Given the description of an element on the screen output the (x, y) to click on. 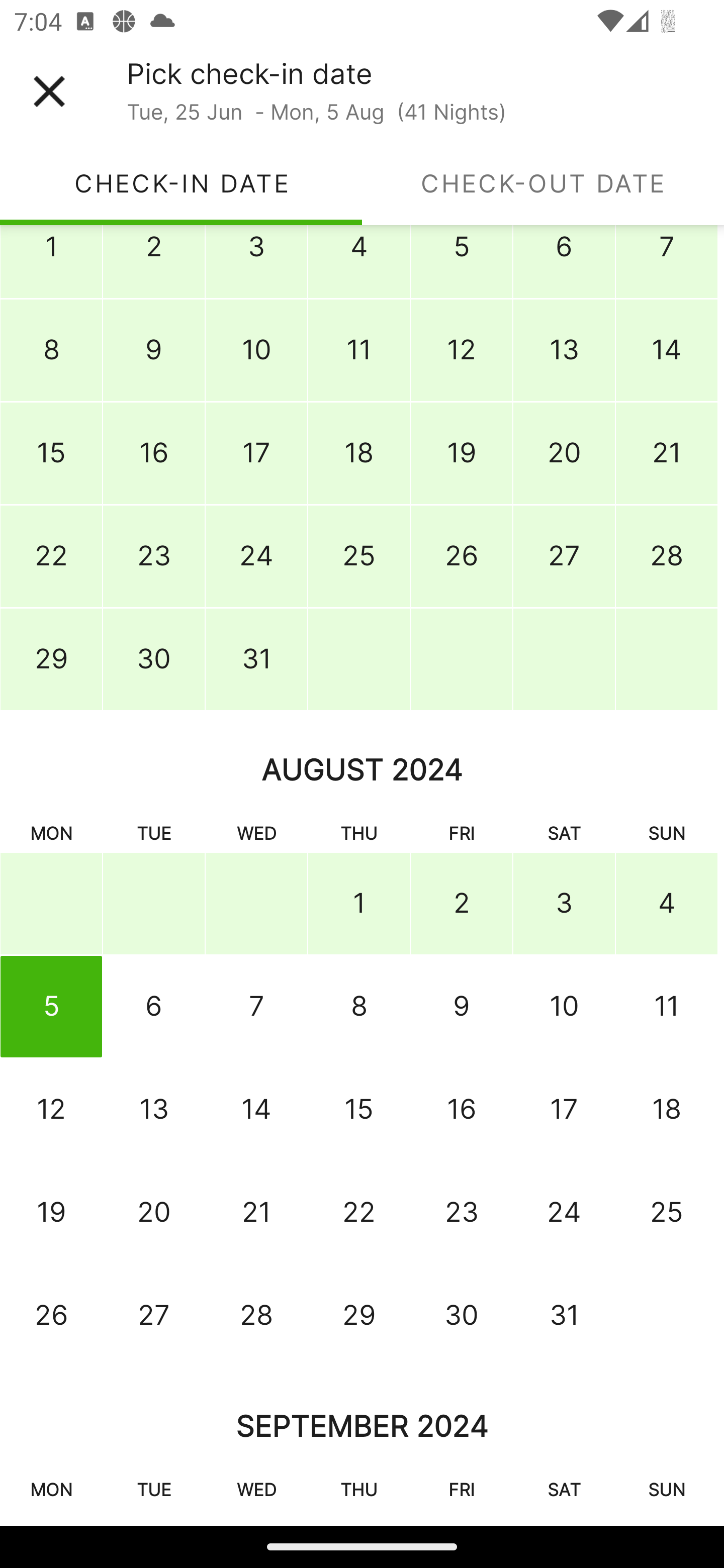
Check-out Date CHECK-OUT DATE (543, 183)
